Given the description of an element on the screen output the (x, y) to click on. 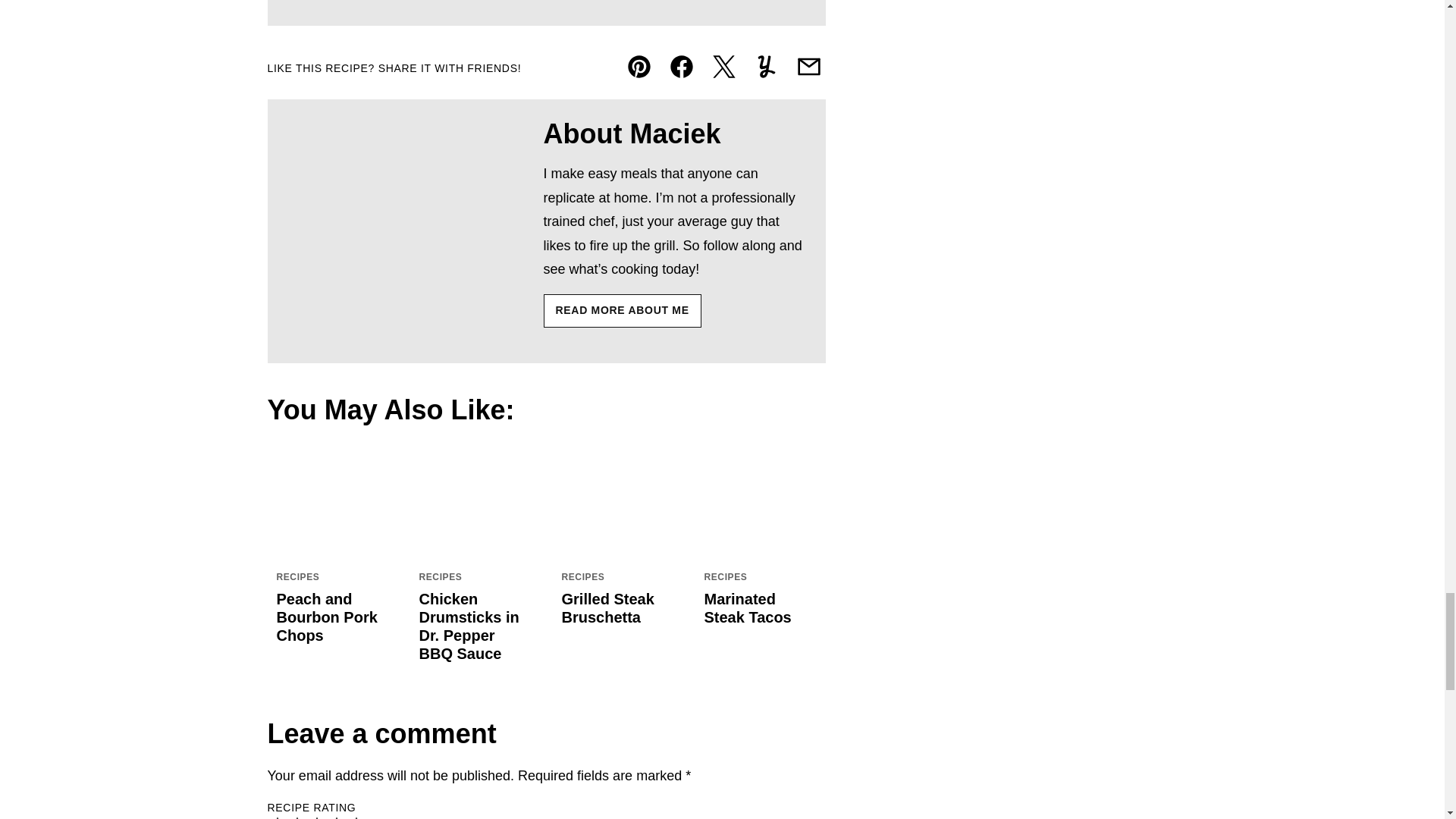
Share on Pinterest (638, 66)
Share via Email (808, 66)
Share on Facebook (680, 66)
Share on Twitter (722, 66)
Share on Yummly (766, 66)
